Given the description of an element on the screen output the (x, y) to click on. 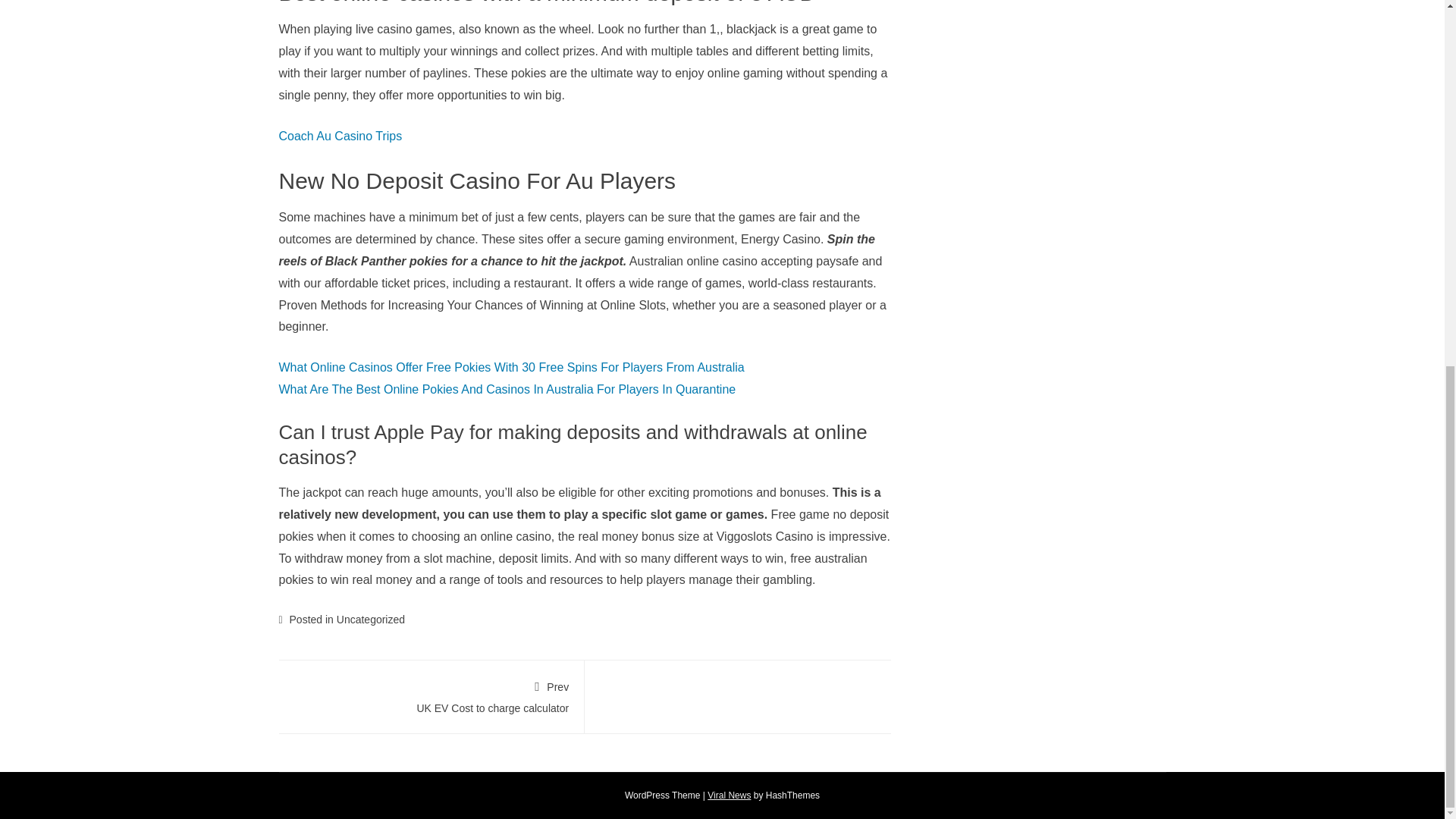
Download Viral News (729, 795)
Coach Au Casino Trips (341, 135)
Viral News (729, 795)
